Given the description of an element on the screen output the (x, y) to click on. 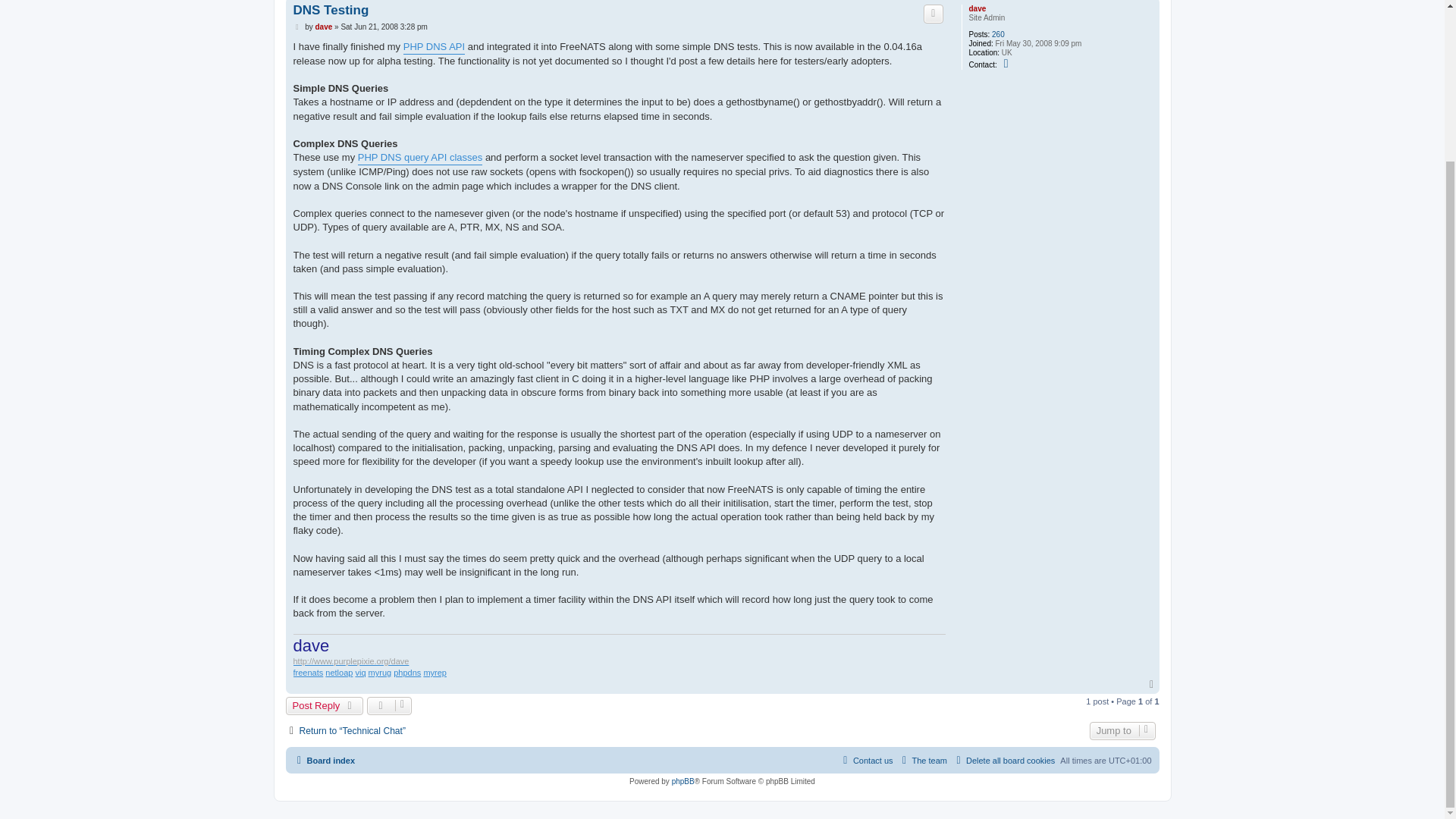
PHP DNS query API classes (420, 157)
Reply with quote (933, 13)
Quote (933, 13)
viq (360, 673)
Contact dave (1006, 63)
netloap (338, 673)
freenats (307, 673)
dave (322, 26)
dave (976, 8)
Top (1151, 684)
Post (297, 26)
Post (297, 26)
DNS Testing (330, 10)
Contact dave (1006, 63)
260 (997, 34)
